Given the description of an element on the screen output the (x, y) to click on. 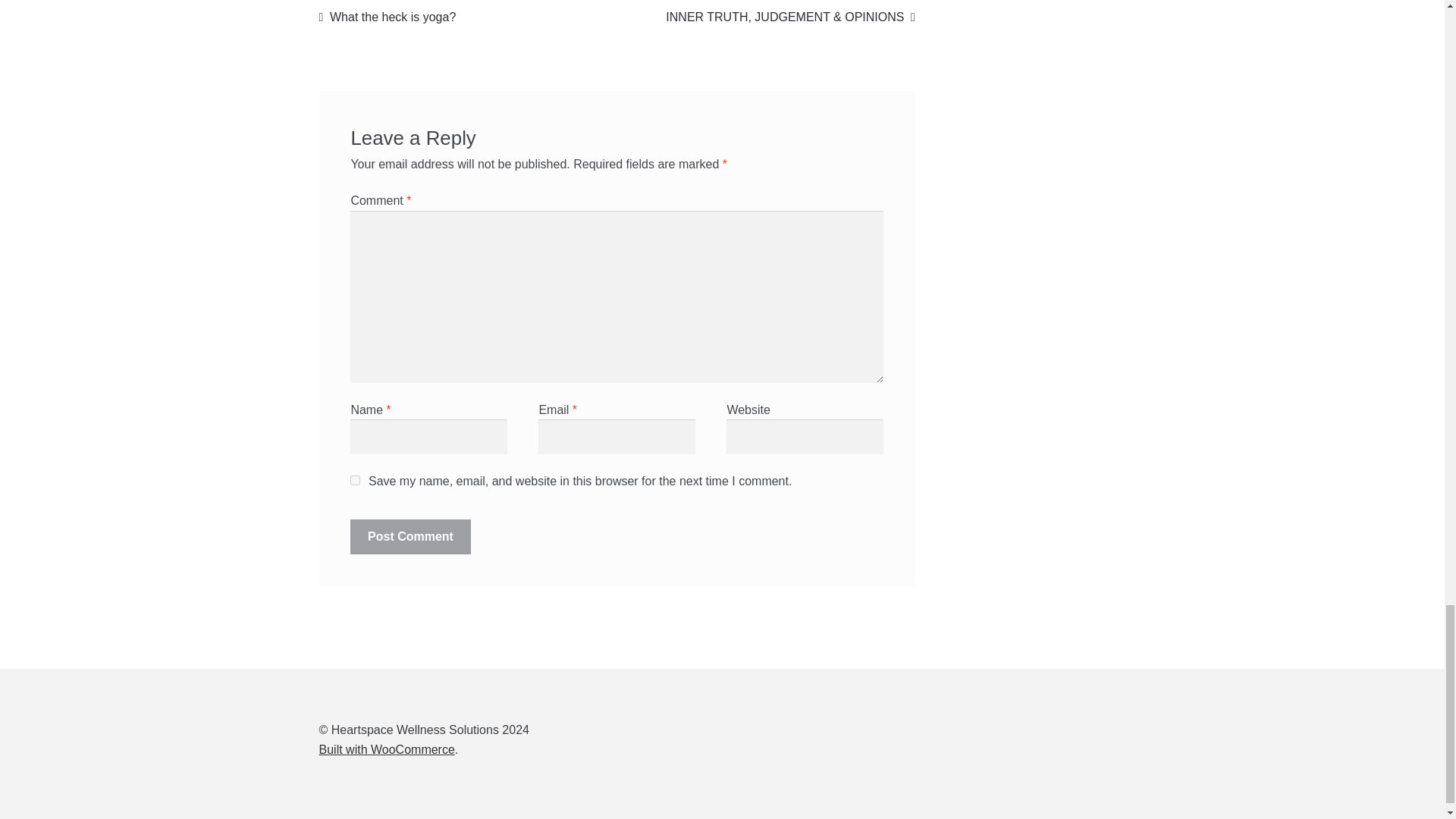
Post Comment (410, 536)
yes (354, 480)
WooCommerce - The Best eCommerce Platform for WordPress (386, 748)
